Given the description of an element on the screen output the (x, y) to click on. 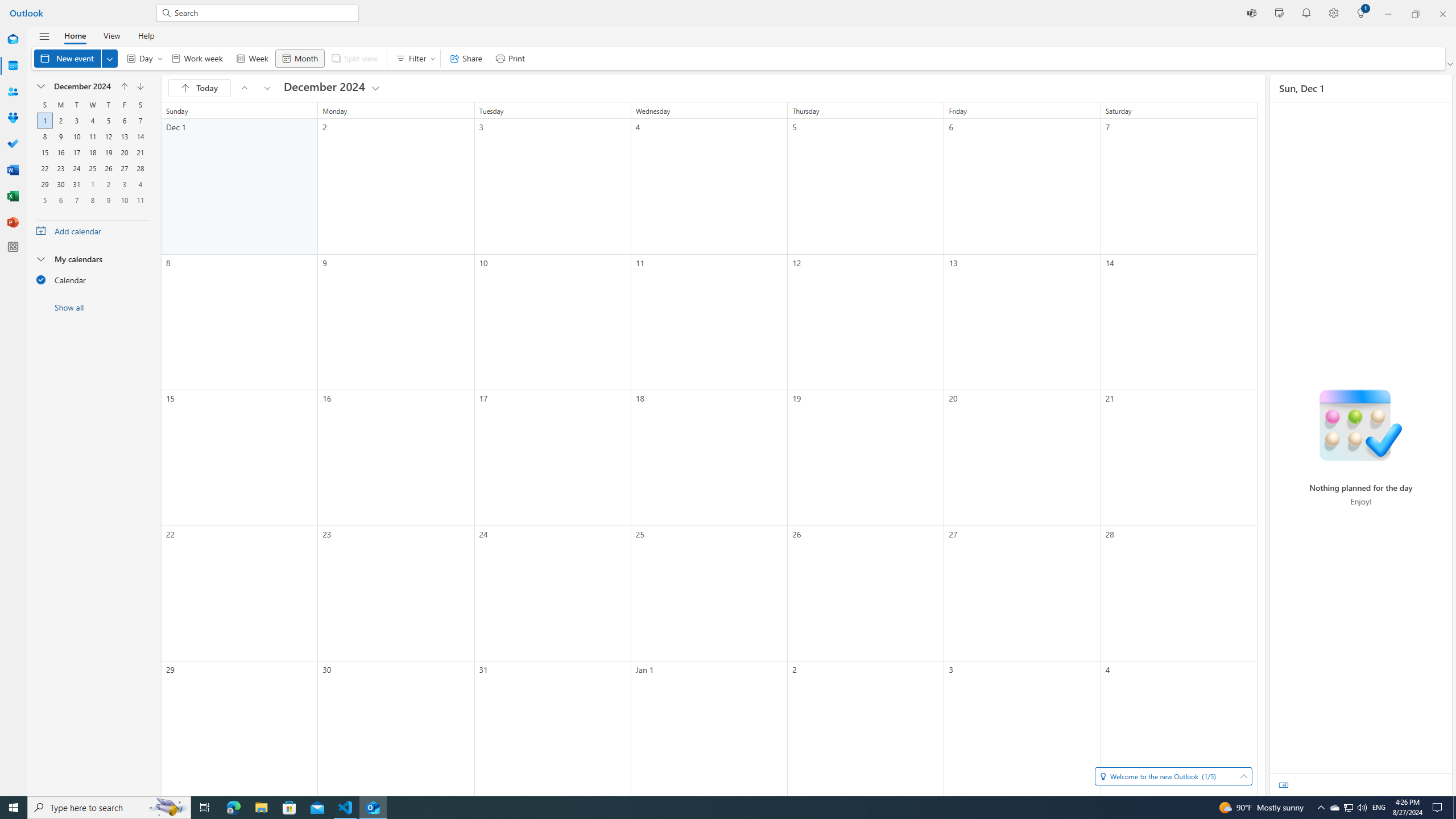
PowerPoint (12, 222)
Tuesday (76, 104)
24, December, 2024 (1347, 807)
3, January, 2025 (75, 168)
Visual Studio Code - 1 running window (124, 183)
9, December, 2024 (345, 807)
7, December, 2024 (59, 136)
Go to next month January 2025 (140, 120)
2, January, 2025 (266, 88)
Tray Input Indicator - English (United States) (108, 183)
1, January, 2025 (1378, 807)
30, December, 2024 (92, 184)
Monday (60, 184)
User Promoted Notification Area (60, 104)
